Given the description of an element on the screen output the (x, y) to click on. 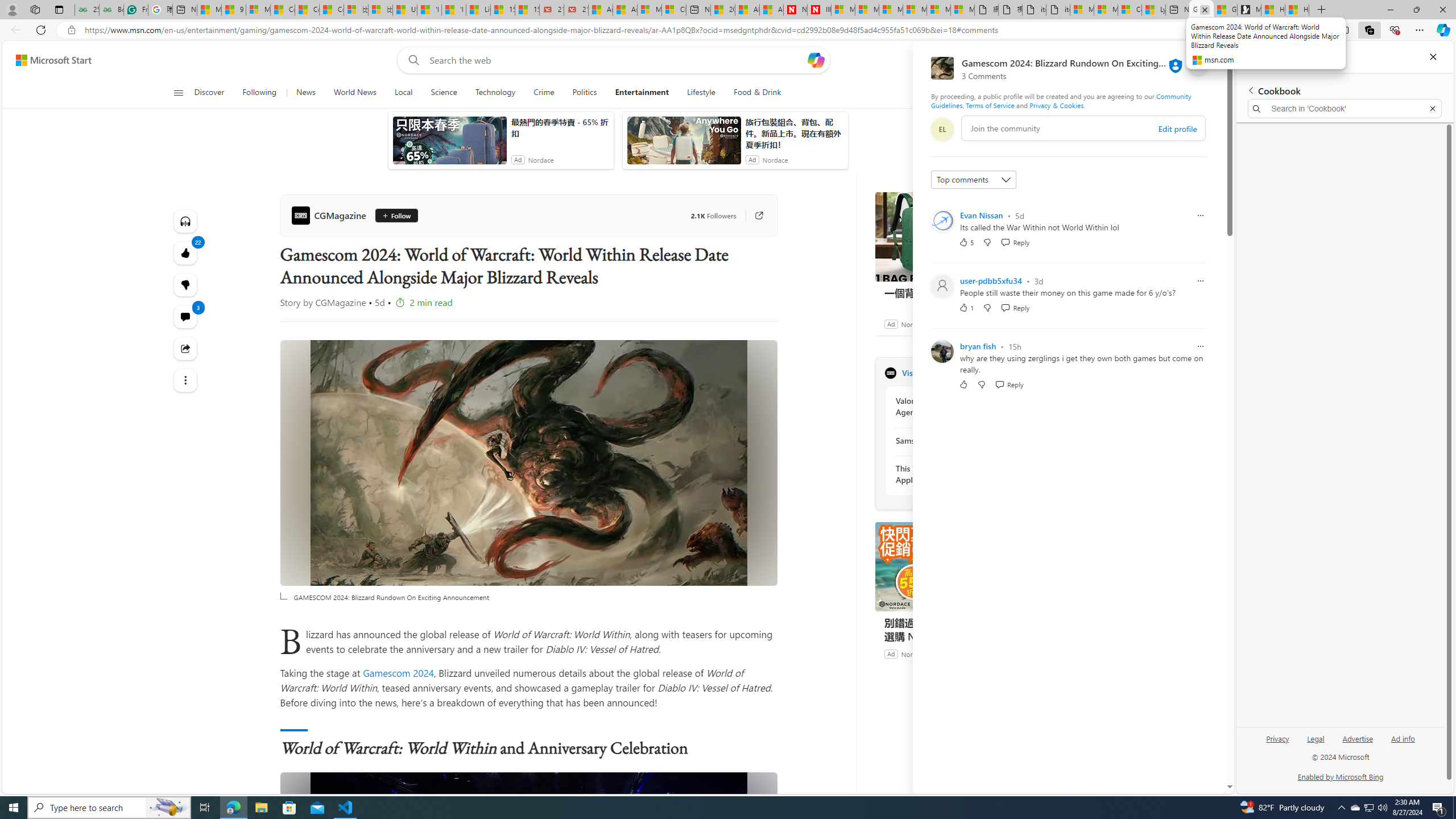
comment-box (1082, 127)
Cloud Computing Services | Microsoft Azure (673, 9)
bryan fish (977, 346)
20 Ways to Boost Your Protein Intake at Every Meal (722, 9)
Reply Reply Comment (1008, 384)
